Given the description of an element on the screen output the (x, y) to click on. 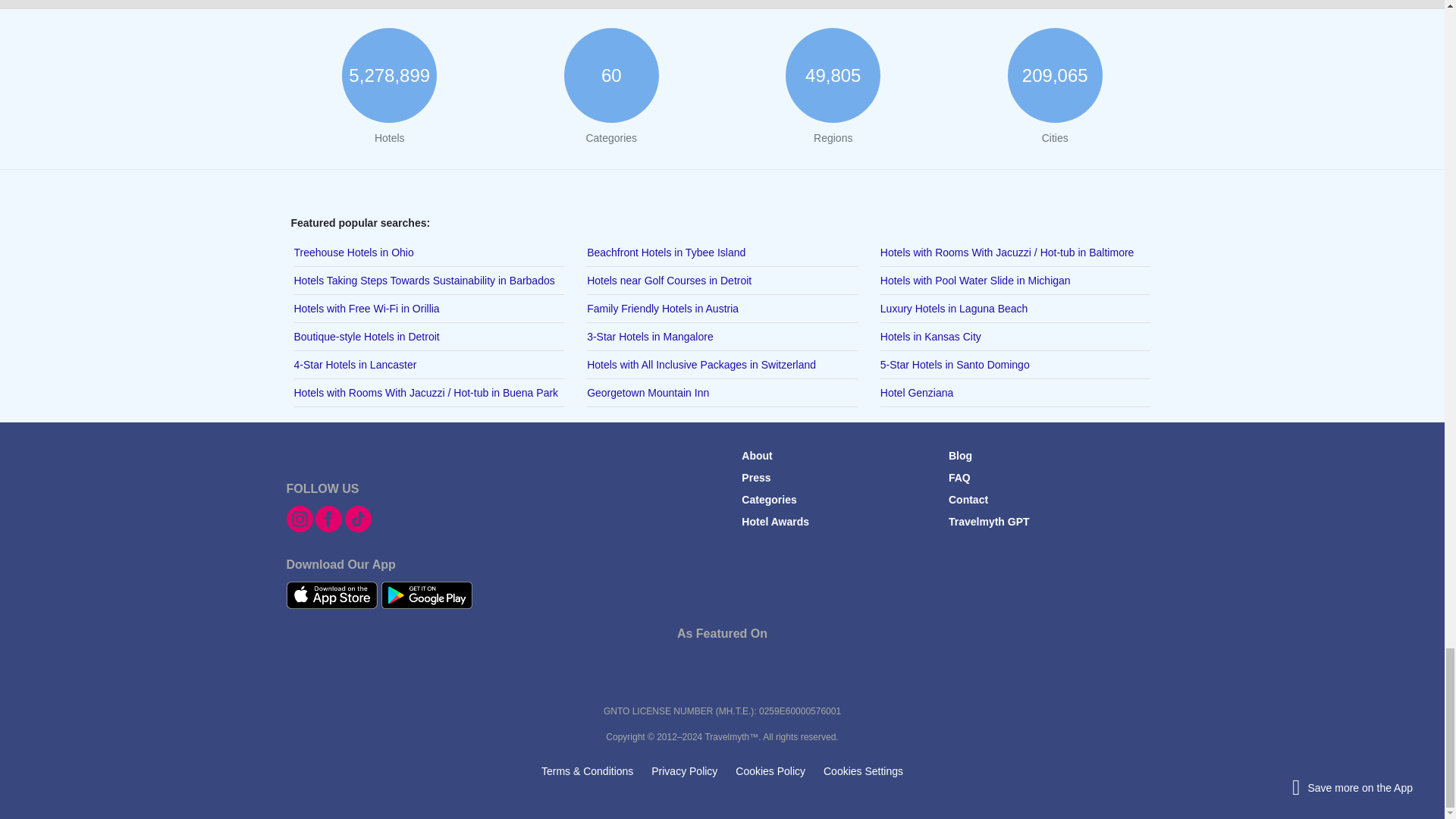
Treehouse Hotels in Ohio (429, 252)
Beachfront Hotels in Tybee Island (721, 252)
